Given the description of an element on the screen output the (x, y) to click on. 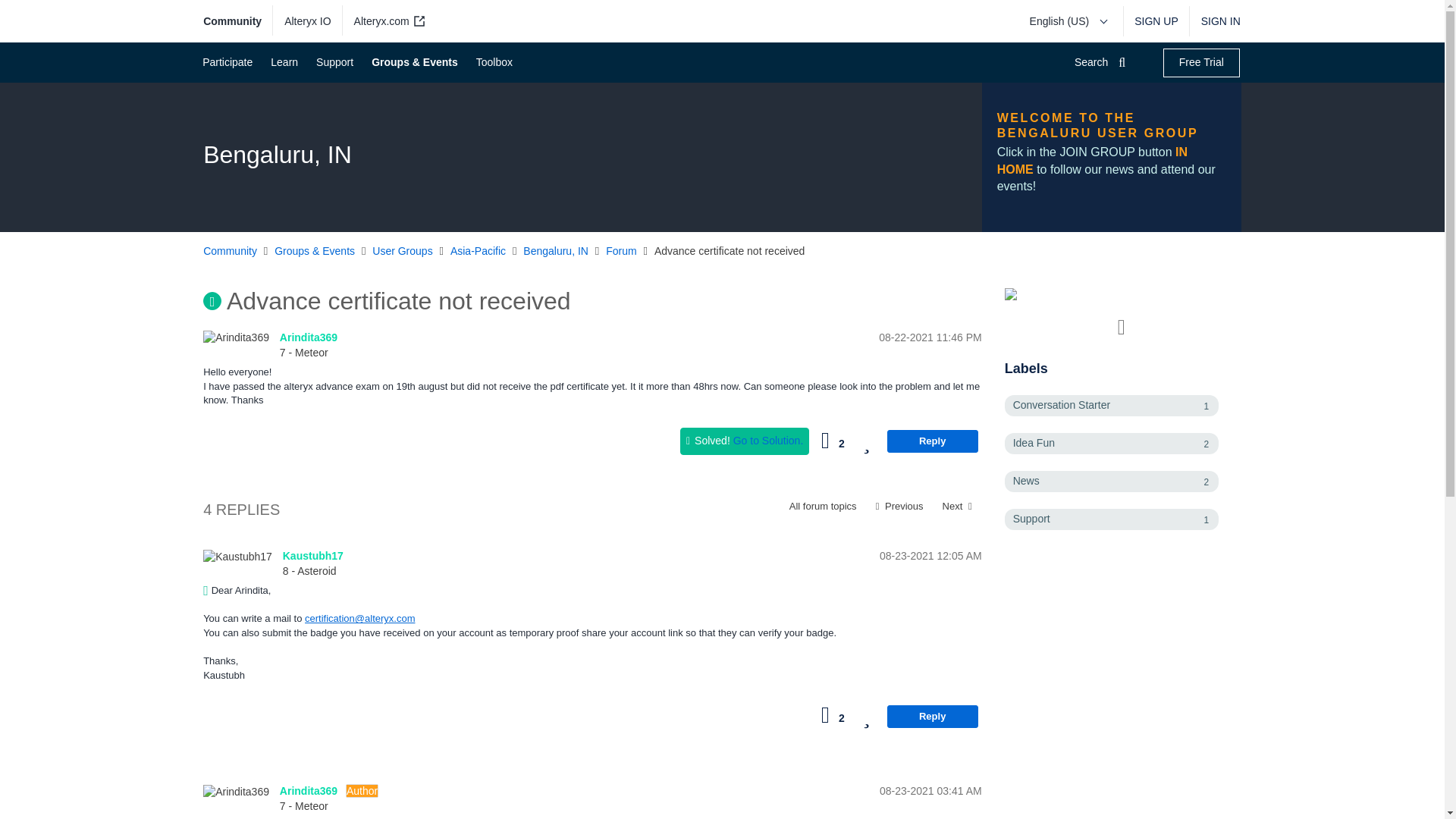
Community (238, 21)
alteryx.com (386, 20)
Add this post to your profile page favorites list. (866, 440)
Participate (226, 62)
Learn (282, 62)
SIGN UP (1155, 21)
Alteryx IO (307, 21)
Posted on (862, 337)
Arindita369 (236, 337)
